Given the description of an element on the screen output the (x, y) to click on. 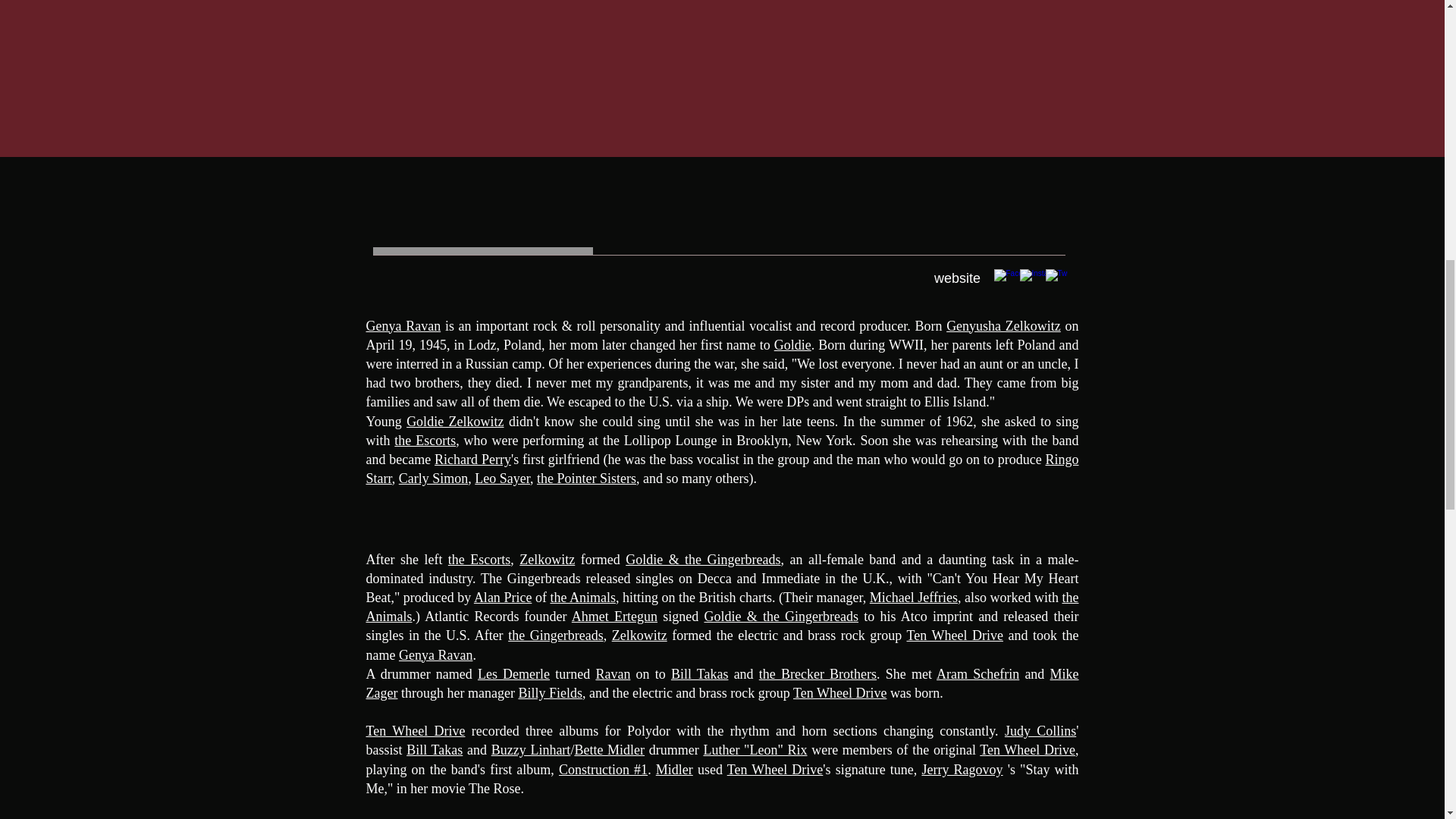
the Animals (582, 597)
Carly Simon (433, 478)
Ringo Starr (721, 469)
Goldie (792, 344)
Alan Price (503, 597)
the Escorts (479, 559)
the Pointer Sisters (586, 478)
Leo Sayer (501, 478)
Genya Ravan (403, 325)
website (957, 278)
